Given the description of an element on the screen output the (x, y) to click on. 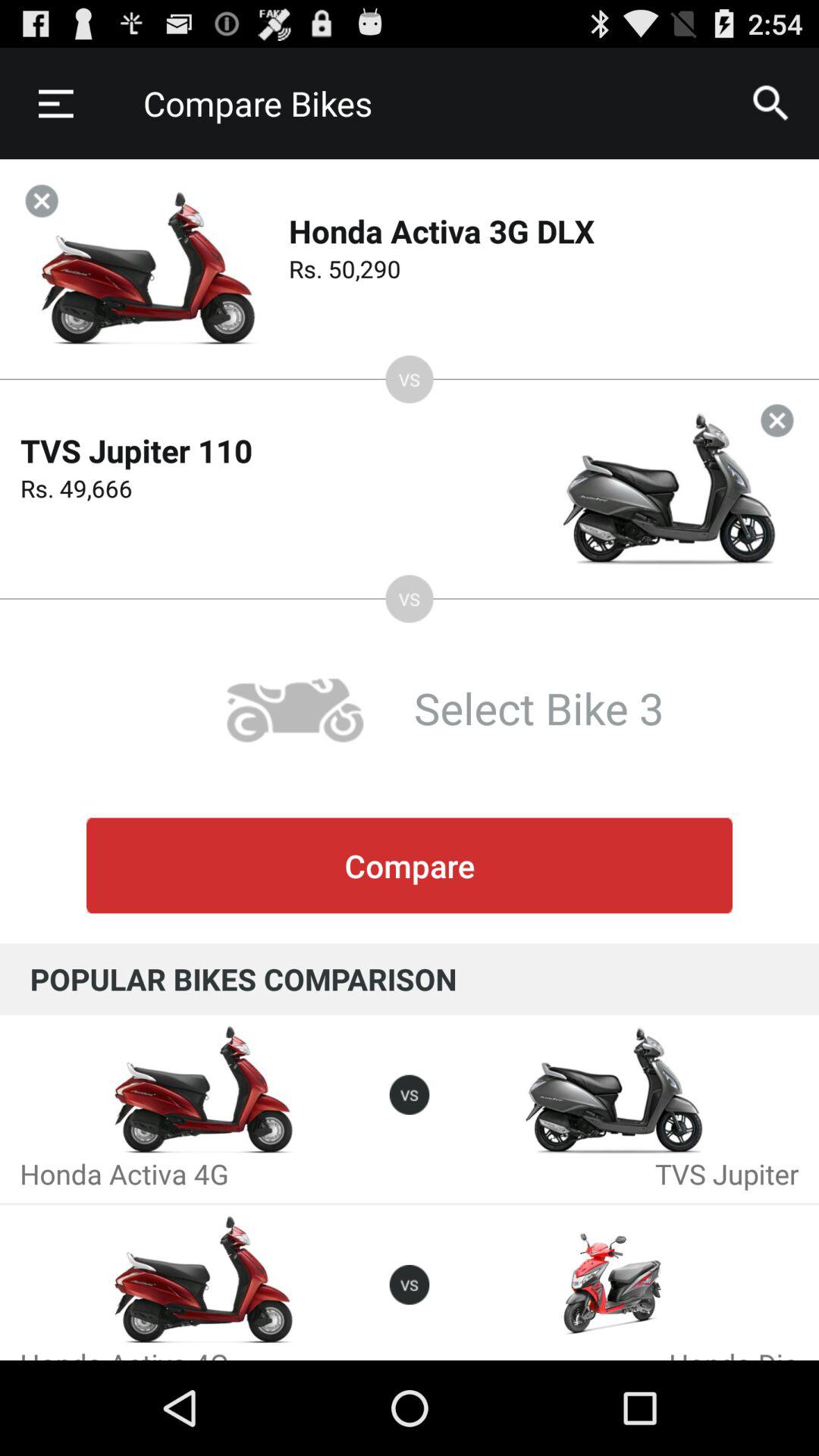
close the page (41, 200)
